Given the description of an element on the screen output the (x, y) to click on. 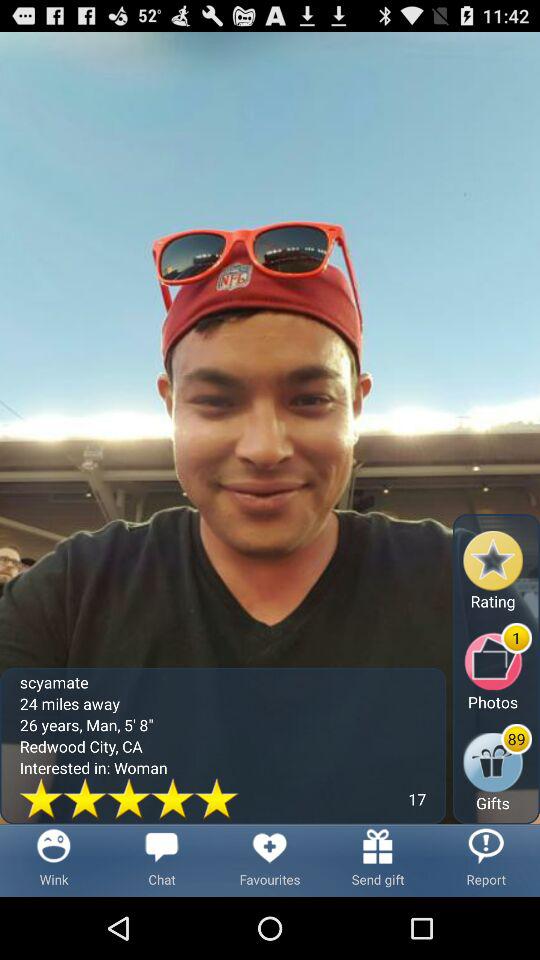
press item next to the chat icon (270, 860)
